Given the description of an element on the screen output the (x, y) to click on. 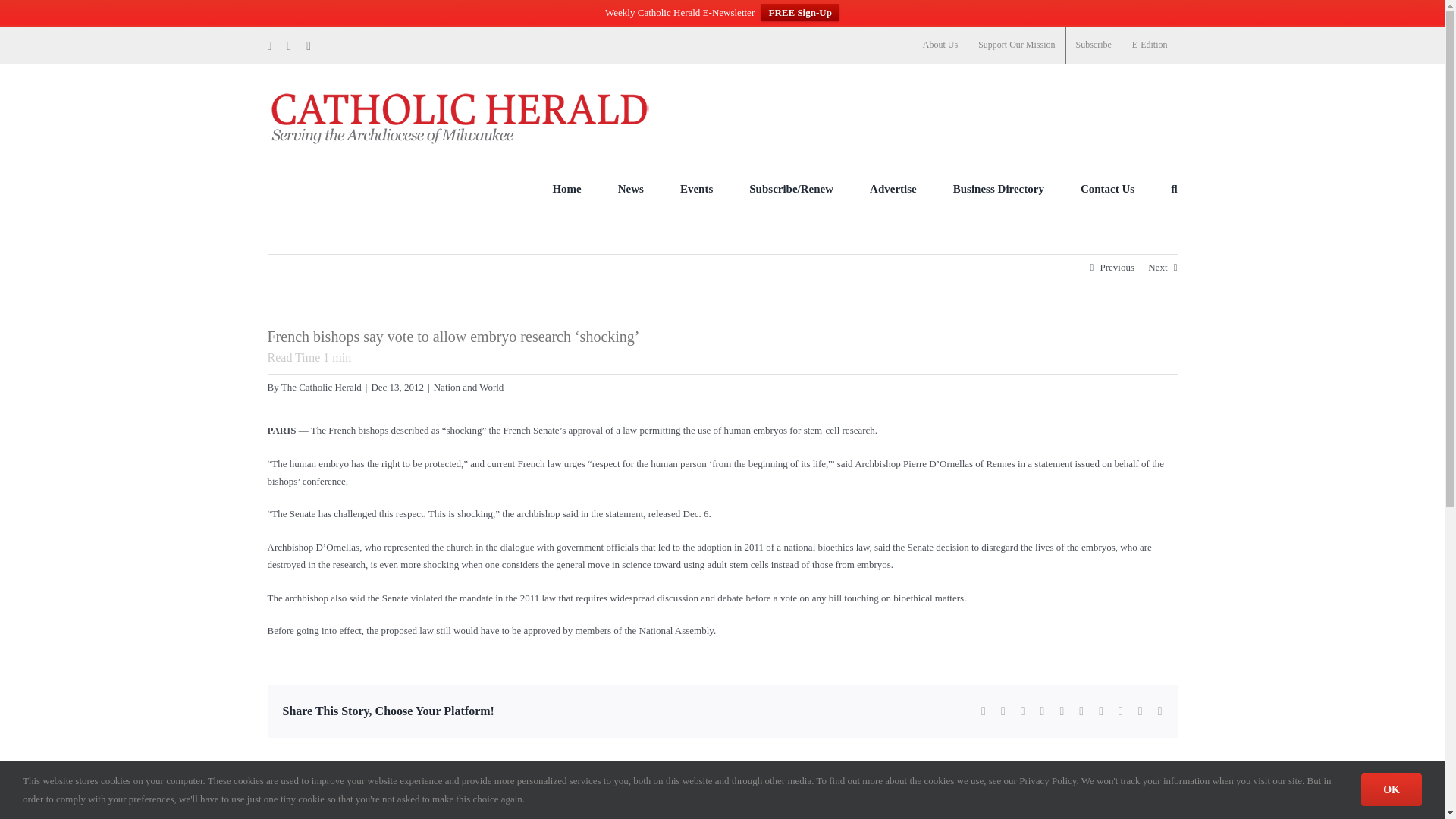
Subscribe (1093, 45)
About Us (940, 45)
Instagram (308, 45)
Support Our Mission (1016, 45)
Contact Us (1107, 188)
Facebook (268, 45)
Events (696, 188)
Home (565, 188)
X (288, 45)
E-Edition (1149, 45)
News (630, 188)
Posts by The Catholic Herald (425, 796)
Business Directory (998, 188)
FREE Sign-Up (799, 12)
